Given the description of an element on the screen output the (x, y) to click on. 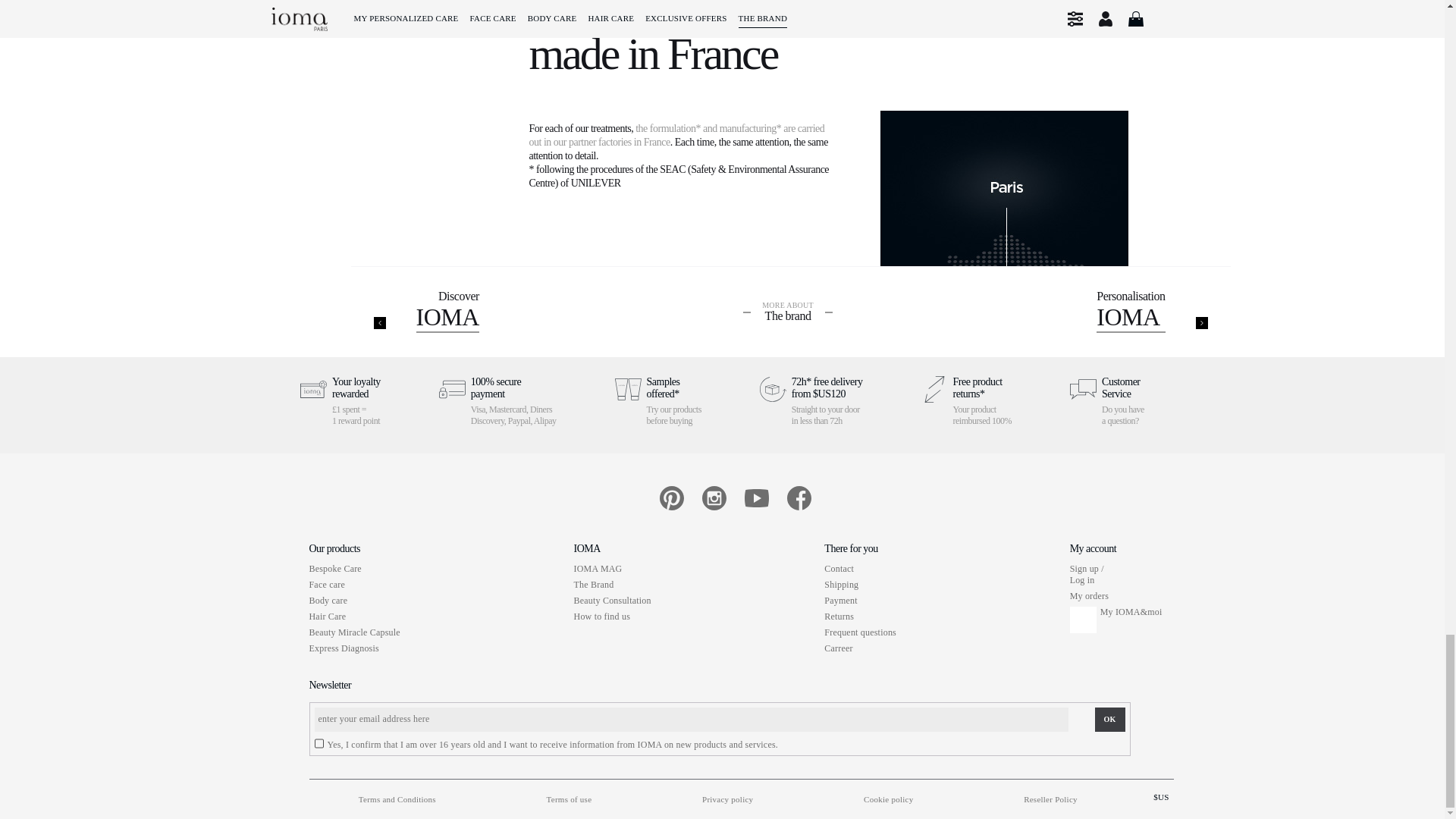
OK (1109, 718)
